Given the description of an element on the screen output the (x, y) to click on. 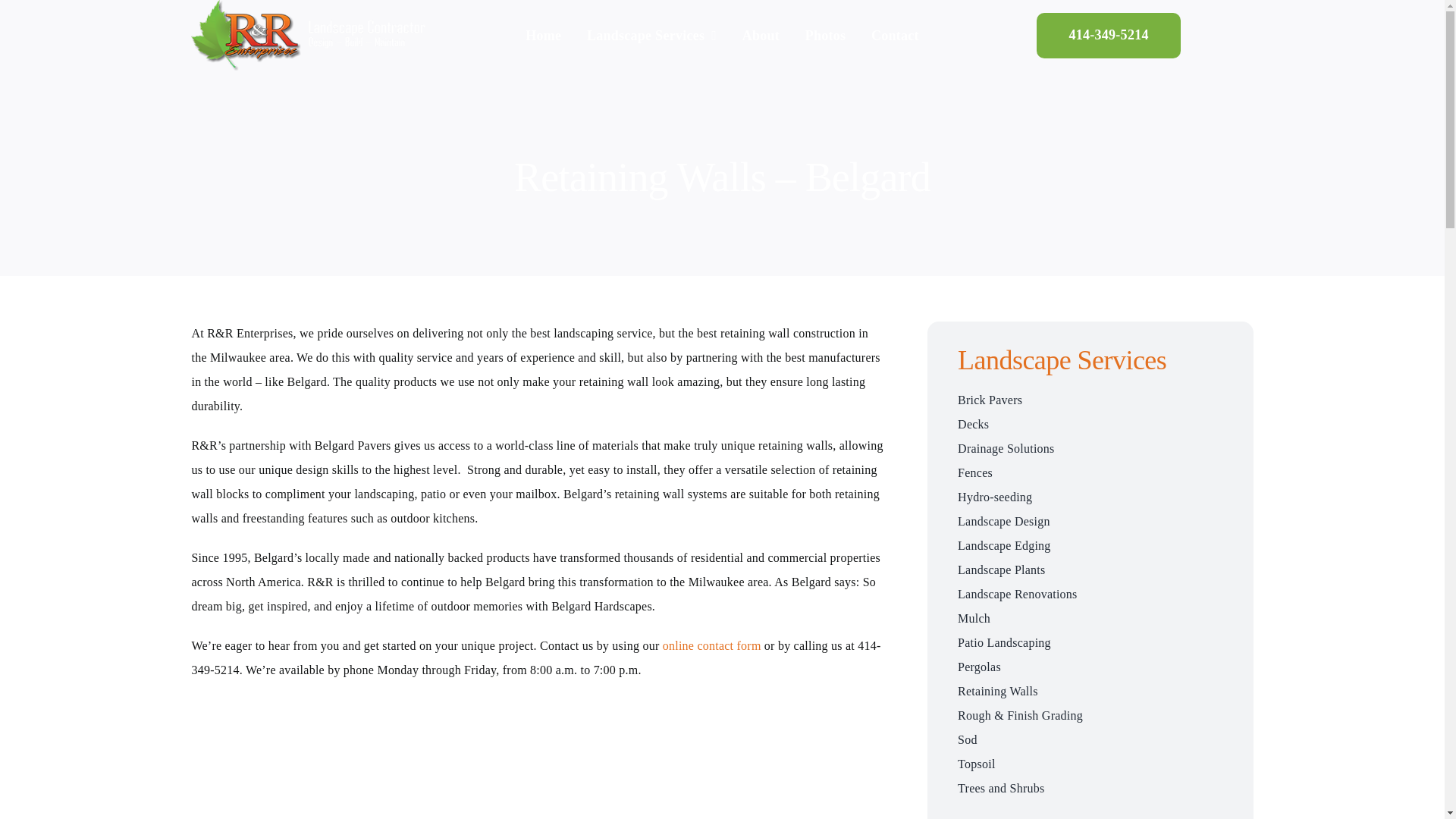
Landscape Services (651, 35)
414-349-5214 (1107, 35)
